Given the description of an element on the screen output the (x, y) to click on. 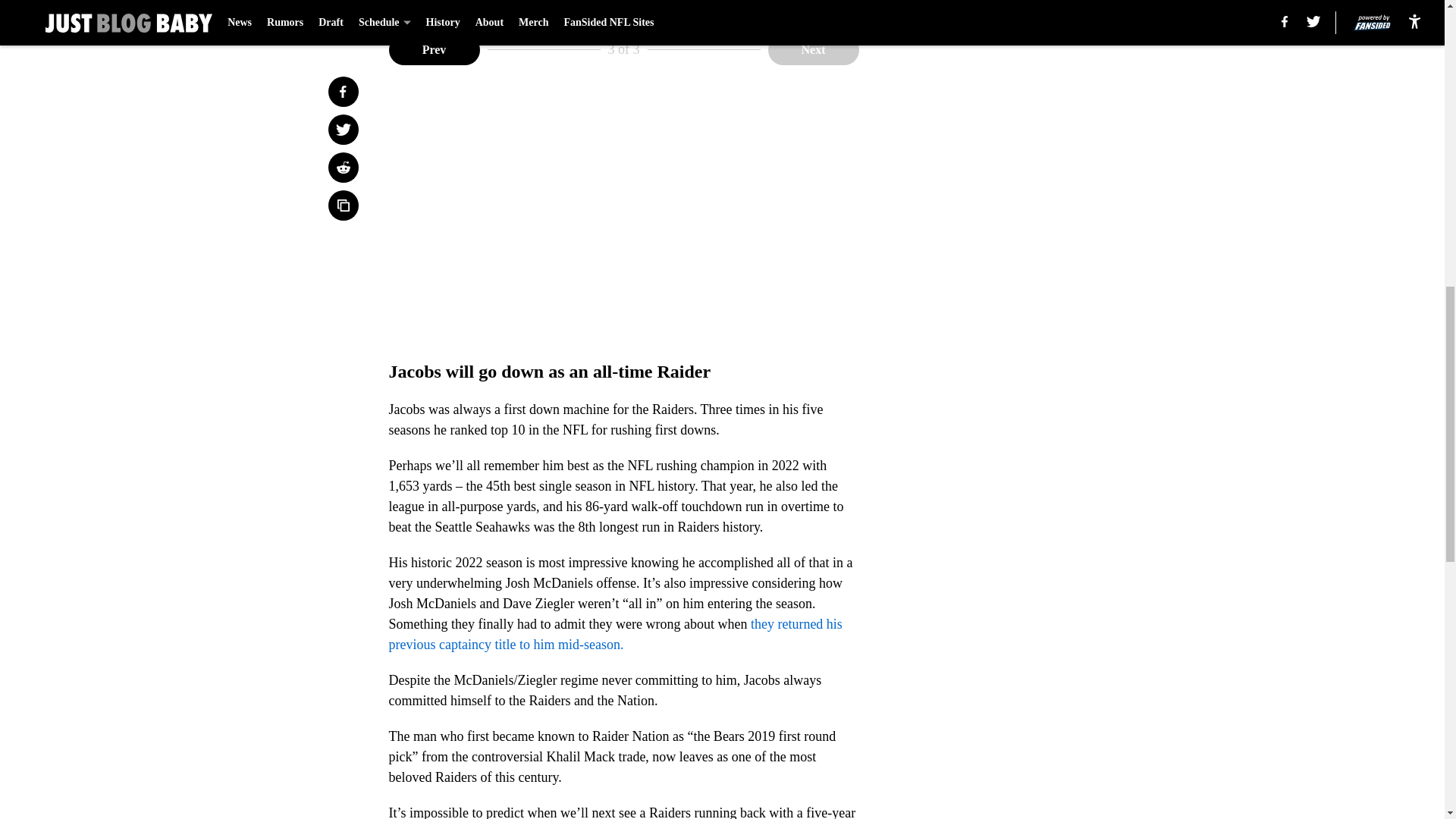
Prev (433, 50)
Next (813, 50)
